Given the description of an element on the screen output the (x, y) to click on. 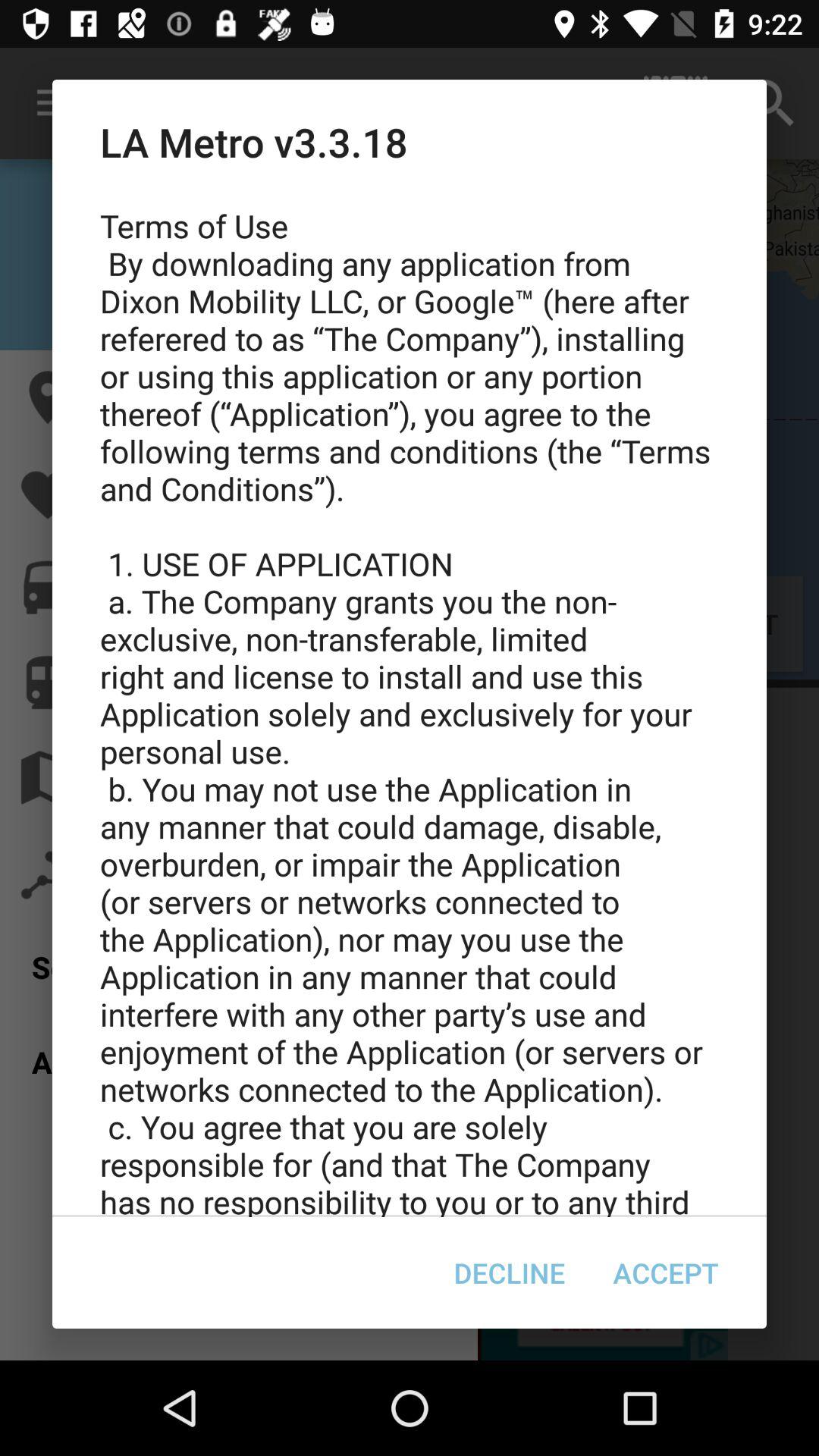
select the item to the right of decline icon (665, 1272)
